Given the description of an element on the screen output the (x, y) to click on. 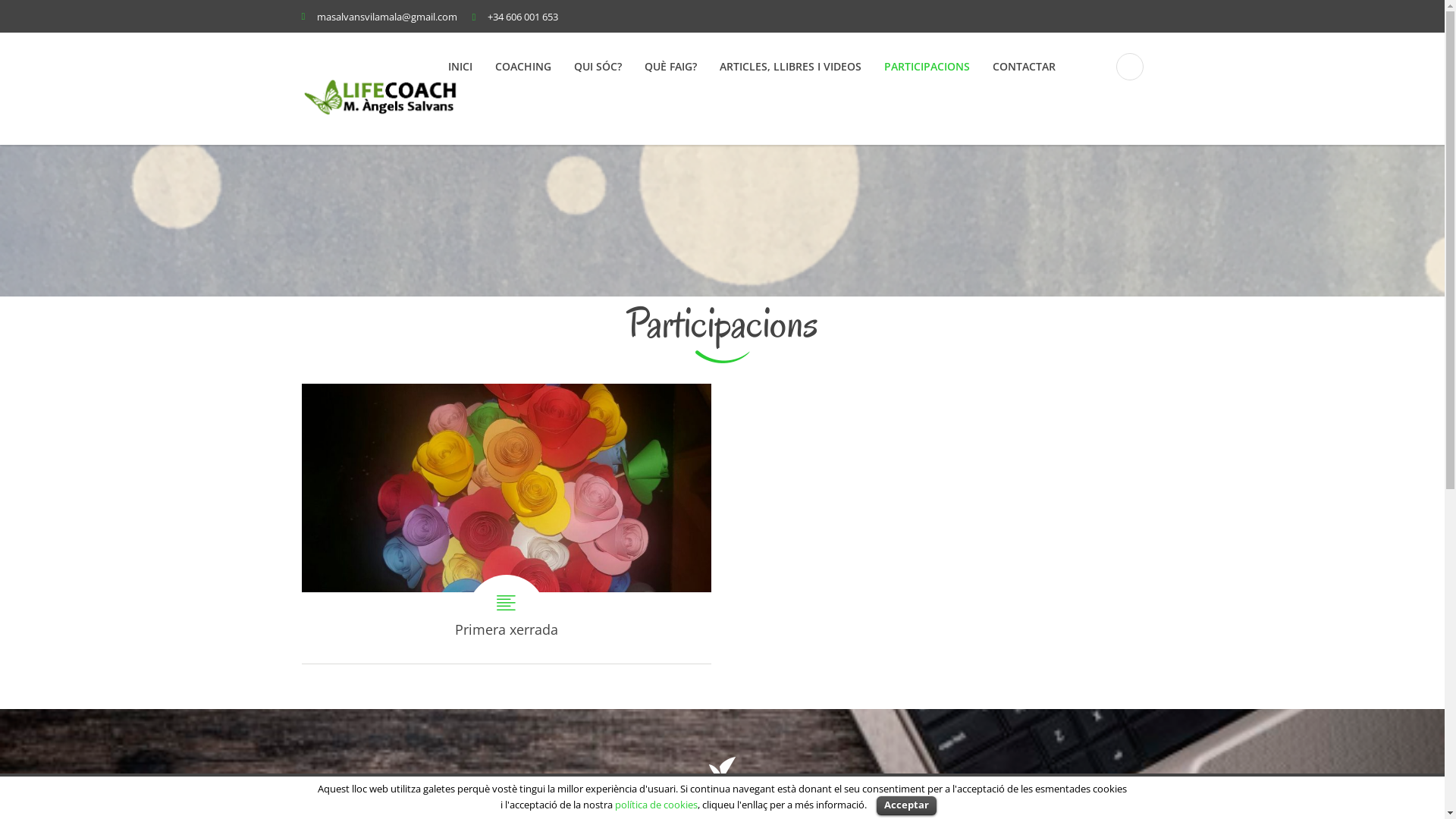
COACHING Element type: text (522, 66)
Acceptar Element type: text (906, 805)
ARTICLES, LLIBRES I VIDEOS Element type: text (789, 66)
masalvansvilamala@gmail.com Element type: text (386, 15)
Primera xerrada Element type: text (506, 523)
PARTICIPACIONS Element type: text (926, 66)
CONTACTAR Element type: text (1022, 66)
INICI Element type: text (459, 66)
